Given the description of an element on the screen output the (x, y) to click on. 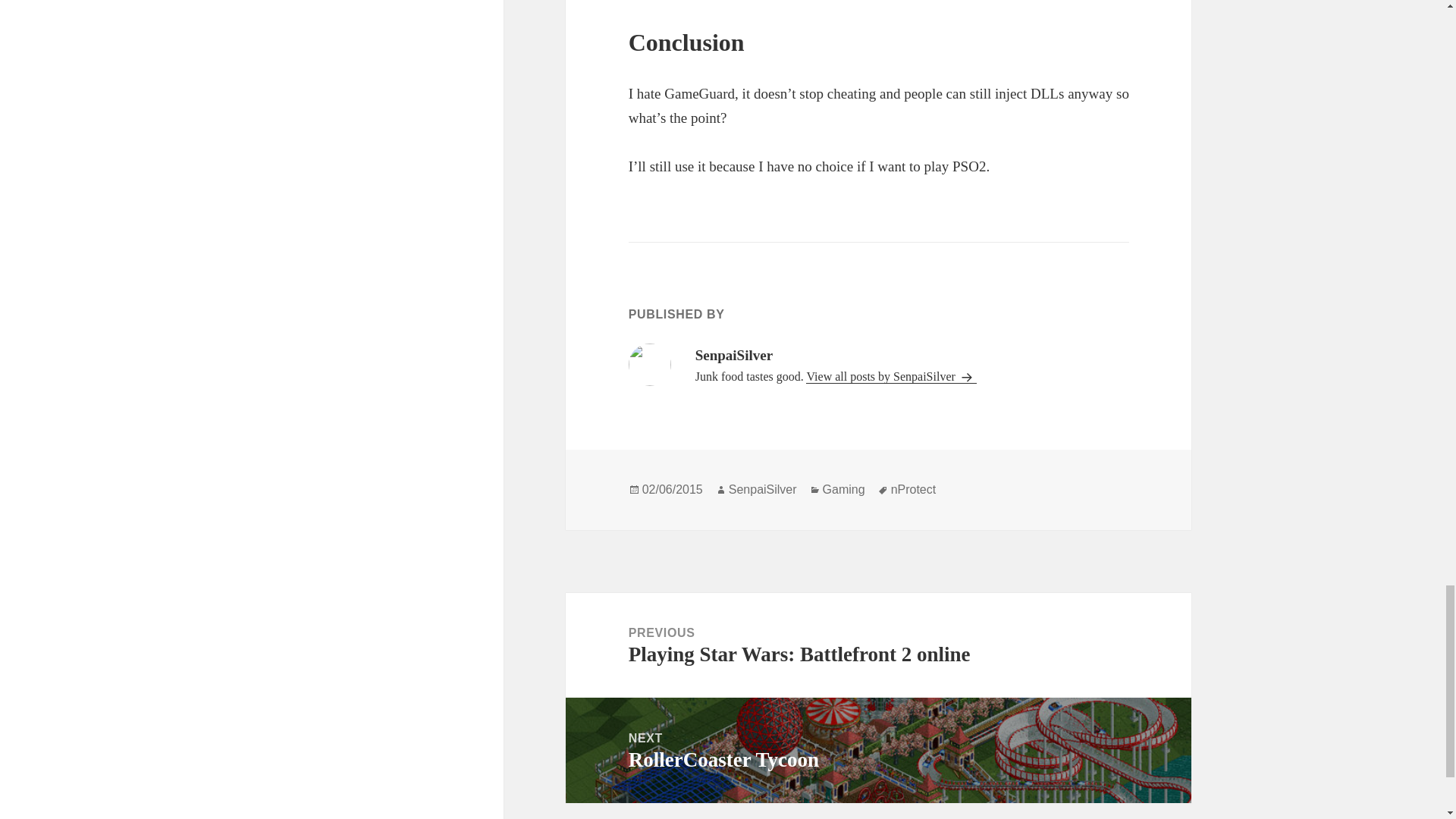
View all posts by SenpaiSilver (890, 377)
SenpaiSilver (762, 489)
nProtect (878, 750)
Gaming (913, 489)
